Given the description of an element on the screen output the (x, y) to click on. 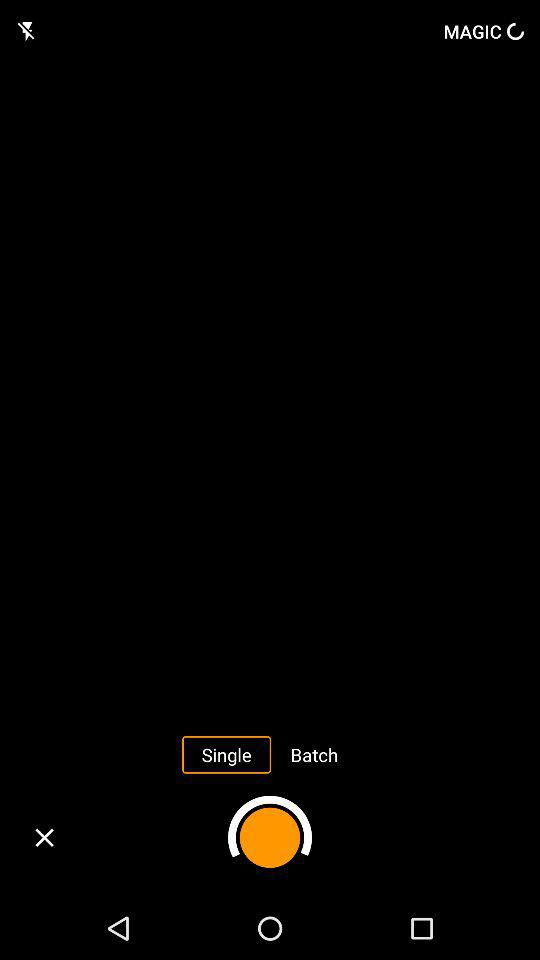
turn off the single item (226, 754)
